Given the description of an element on the screen output the (x, y) to click on. 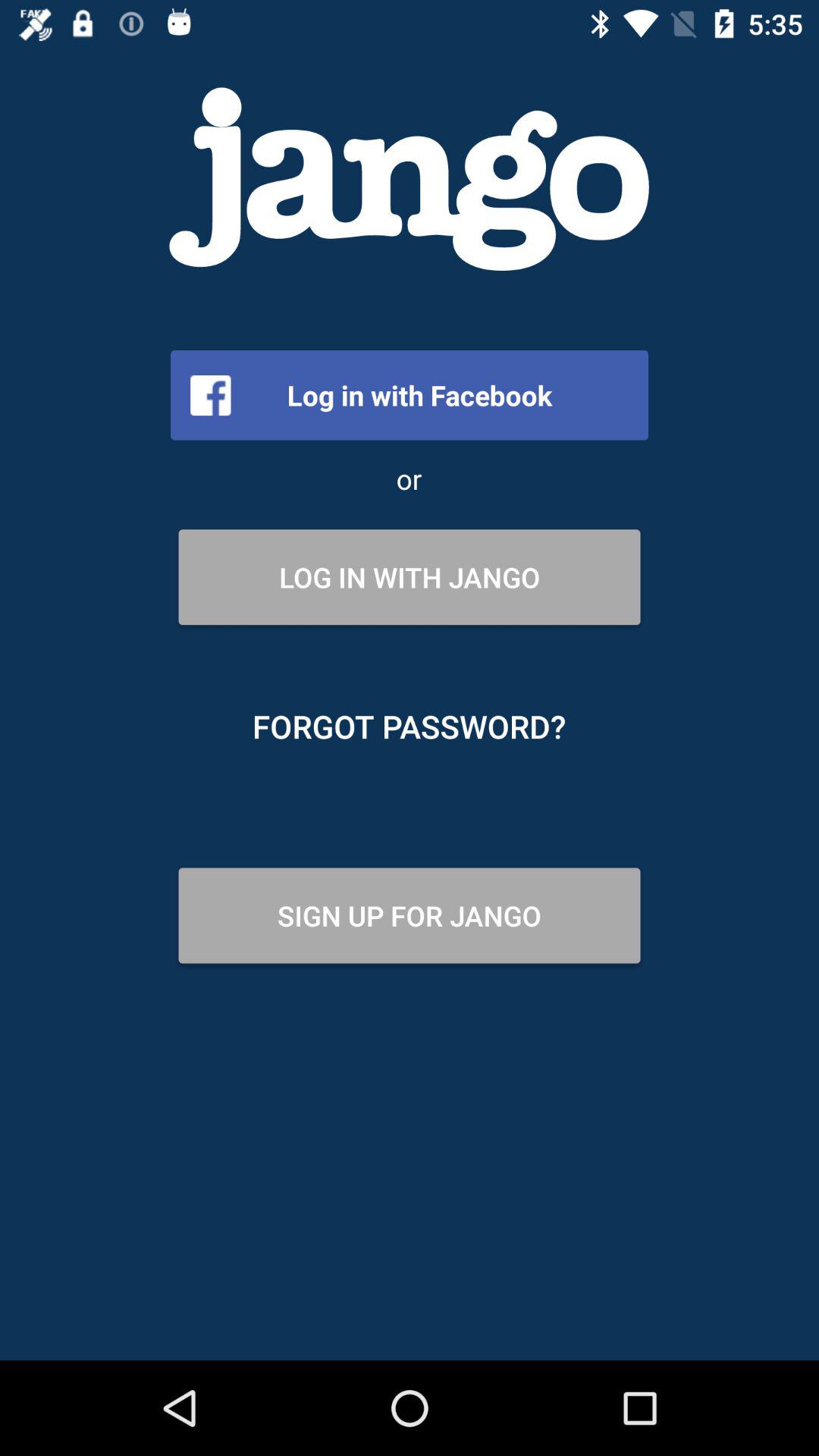
turn on forgot password? item (408, 726)
